Given the description of an element on the screen output the (x, y) to click on. 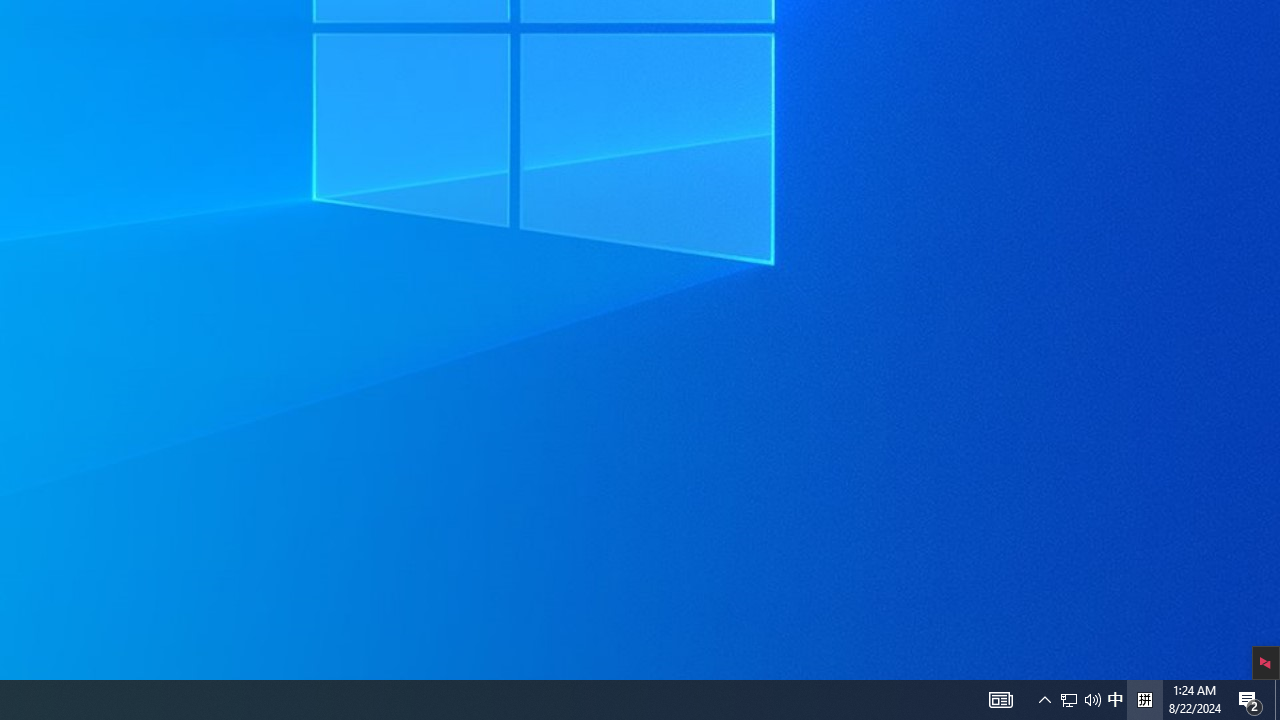
Action Center, 2 new notifications (1250, 699)
AutomationID: 4105 (1069, 699)
Show desktop (1000, 699)
Notification Chevron (1277, 699)
User Promoted Notification Area (1044, 699)
Q2790: 100% (1080, 699)
Tray Input Indicator - Chinese (Simplified, China) (1115, 699)
